Given the description of an element on the screen output the (x, y) to click on. 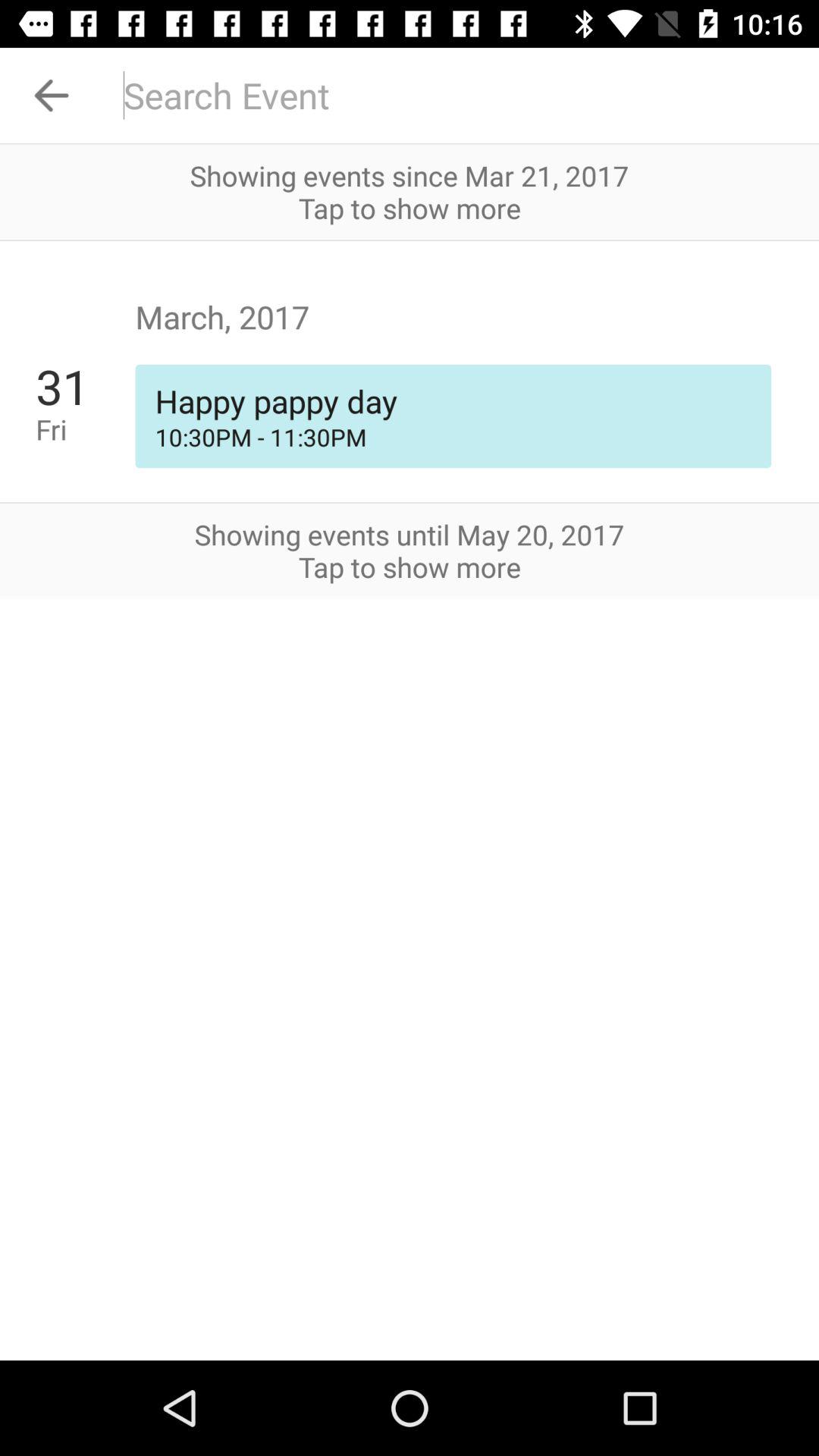
turn off the icon below 10 30pm 11 app (409, 502)
